Given the description of an element on the screen output the (x, y) to click on. 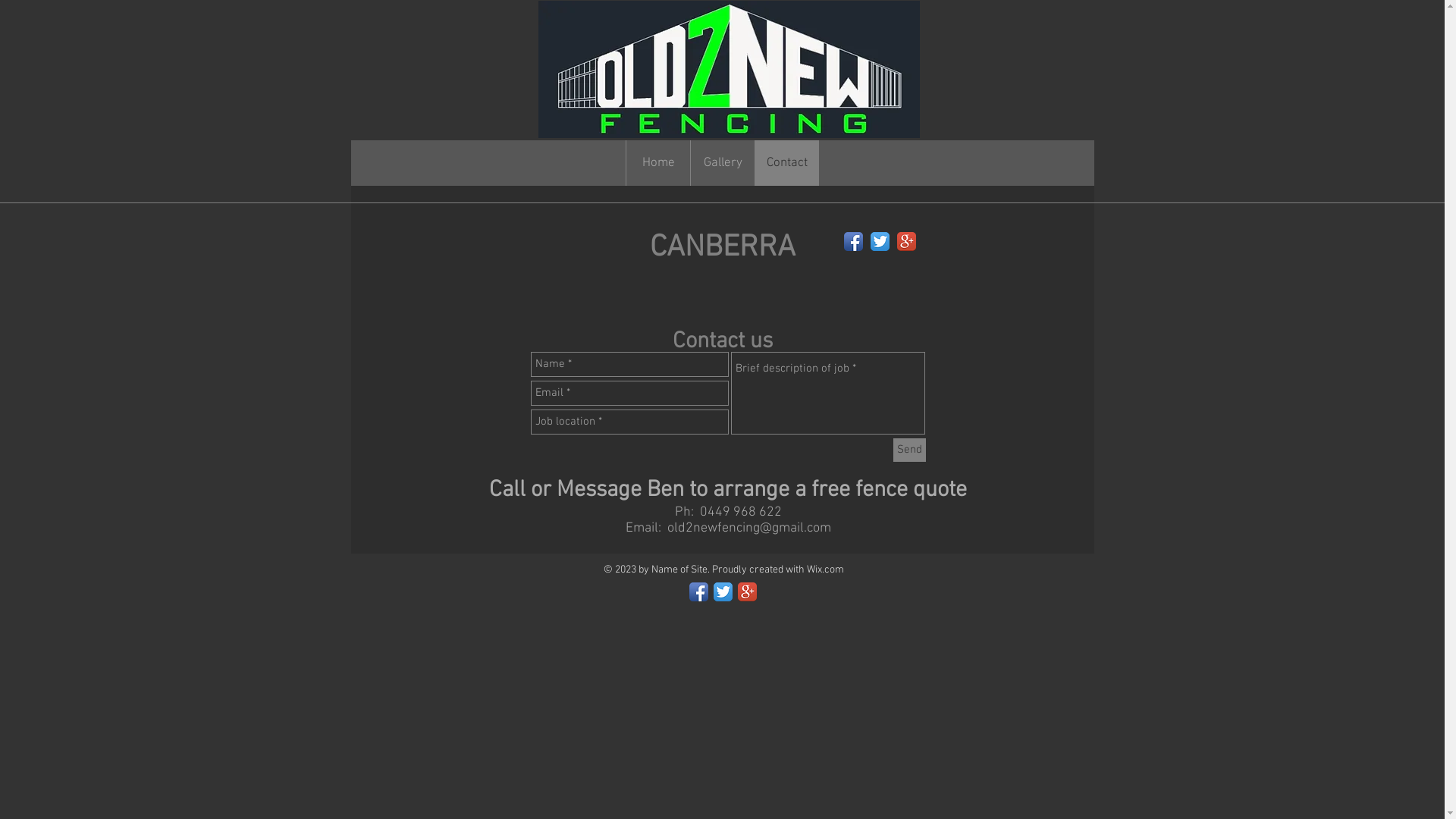
Wix.com Element type: text (825, 569)
old2newfencing@gmail.com Element type: text (749, 528)
Contact Element type: text (852, 115)
Gallery Element type: text (653, 114)
Send Element type: text (909, 449)
Home Element type: text (430, 111)
